Given the description of an element on the screen output the (x, y) to click on. 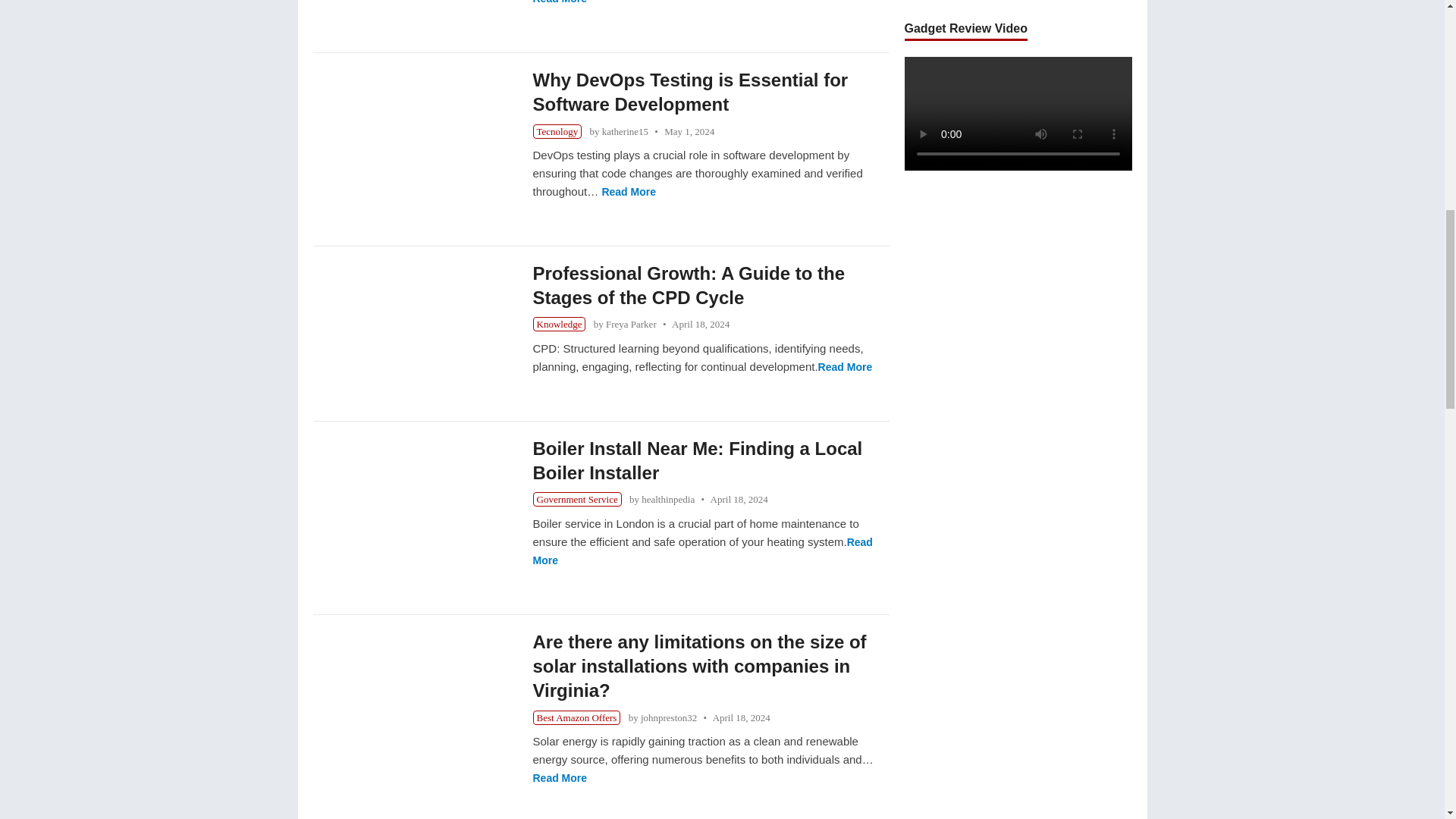
Tata Tiago Seat Covers: Protecting Your Investment in Style (414, 1)
